Given the description of an element on the screen output the (x, y) to click on. 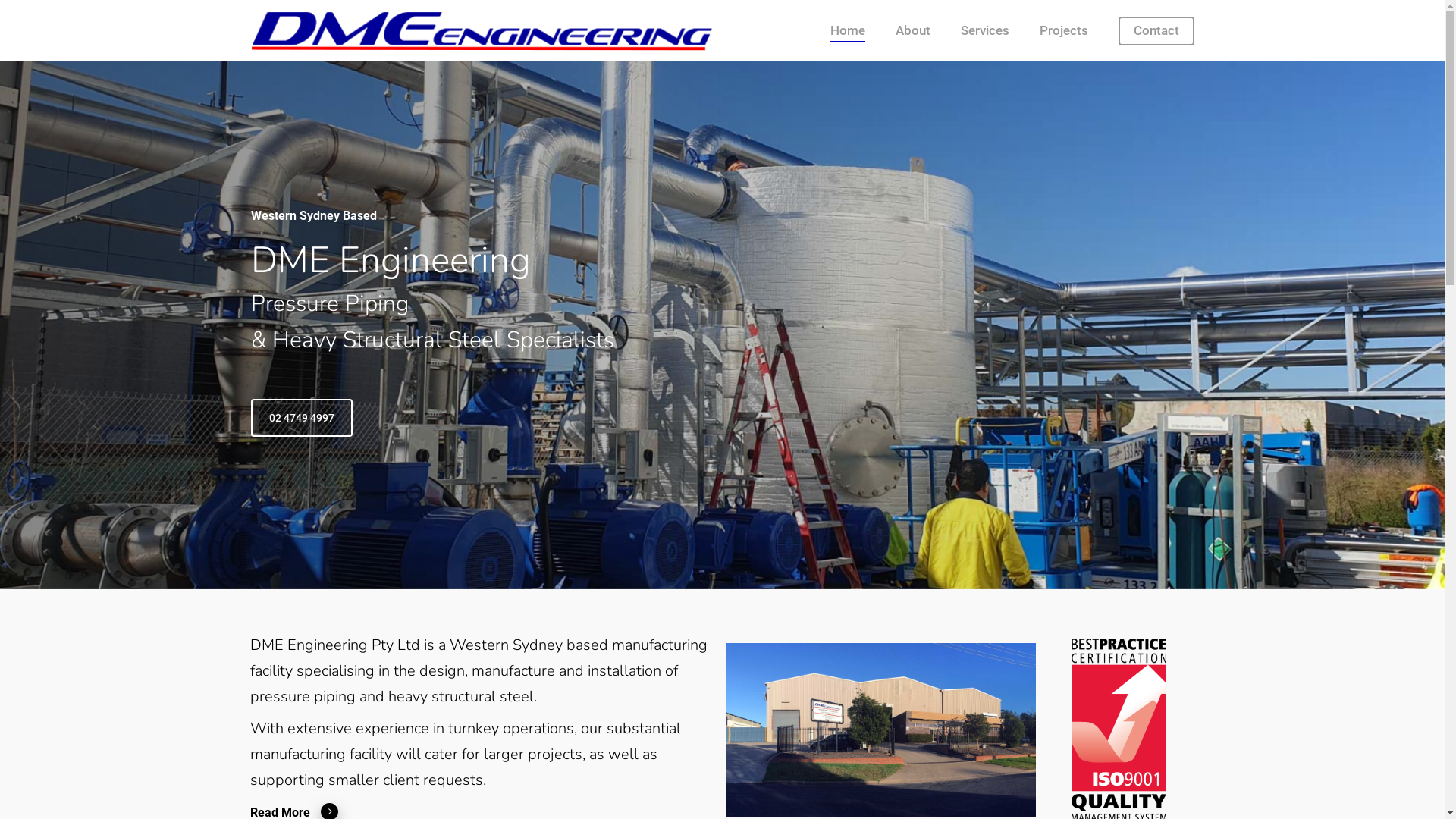
About Element type: text (912, 30)
Projects Element type: text (1063, 30)
Services Element type: text (984, 30)
02 4749 4997 Element type: text (300, 417)
Contact Element type: text (1156, 30)
Home Element type: text (847, 30)
